Given the description of an element on the screen output the (x, y) to click on. 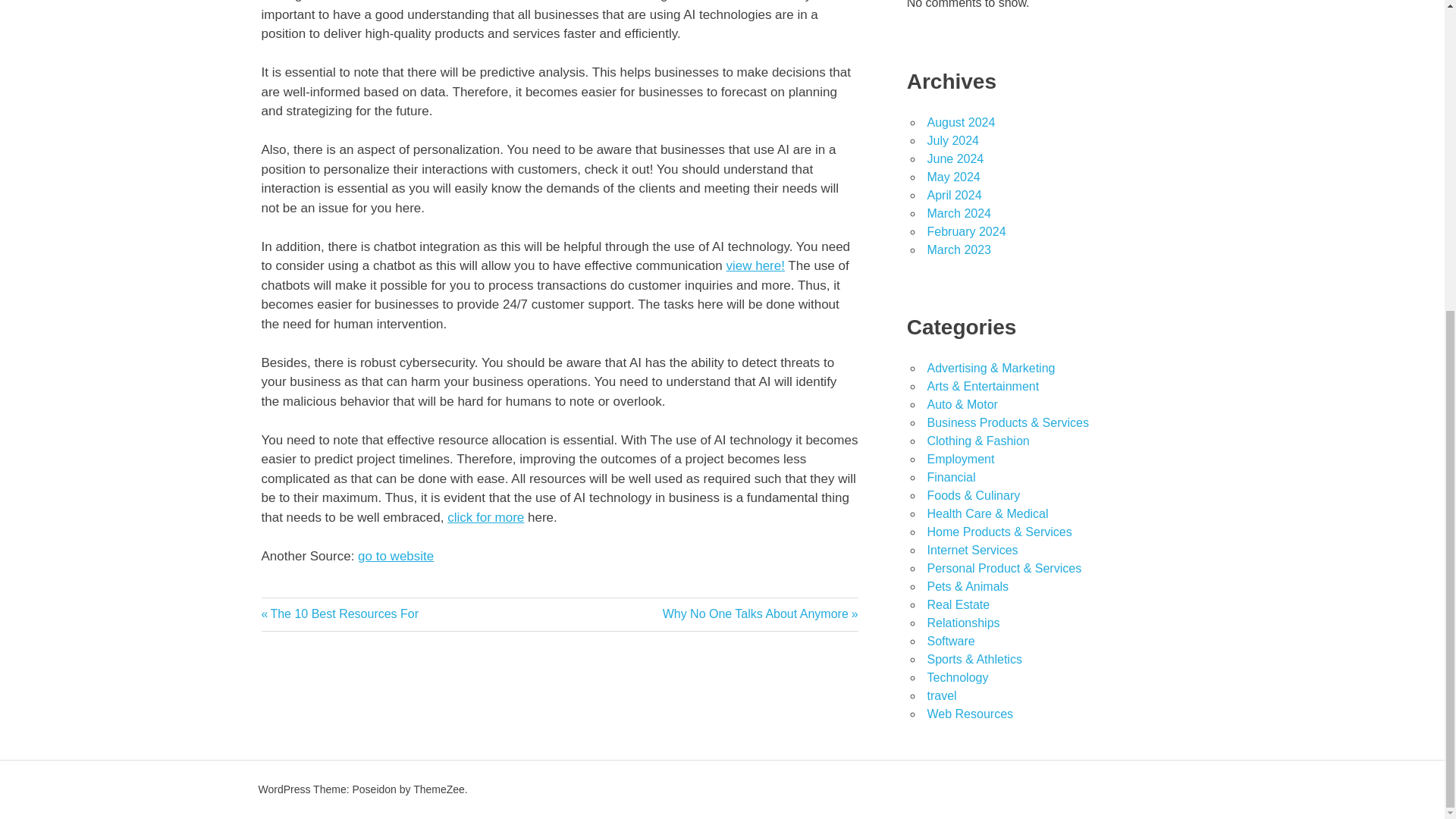
click for more (485, 517)
March 2023 (760, 613)
Software (958, 249)
May 2024 (950, 640)
July 2024 (952, 176)
June 2024 (952, 140)
Real Estate (955, 158)
August 2024 (958, 604)
Relationships (960, 122)
